Given the description of an element on the screen output the (x, y) to click on. 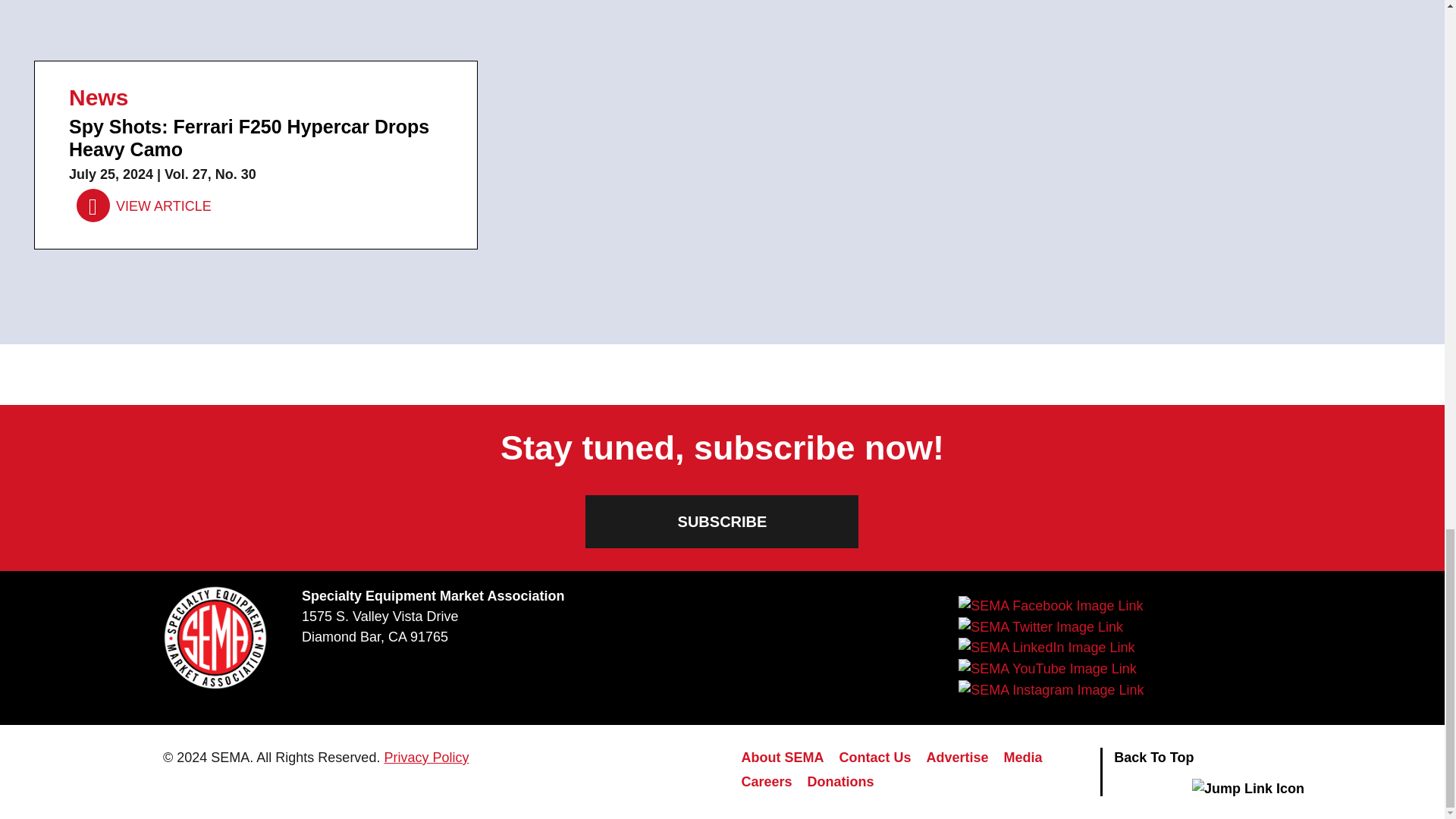
SUBSCRIBE (722, 521)
Privacy Policy (426, 757)
VIEW ARTICLE (143, 205)
SEMA LinkedIn Link (1046, 648)
SEMA Twitter Link (1040, 627)
SEMA Instagram Link (1050, 690)
SEMA YouTube Link (1046, 668)
SEMA Facebook Link (1050, 605)
Spy Shots: Ferrari F250 Hypercar Drops Heavy Camo (143, 205)
